Given the description of an element on the screen output the (x, y) to click on. 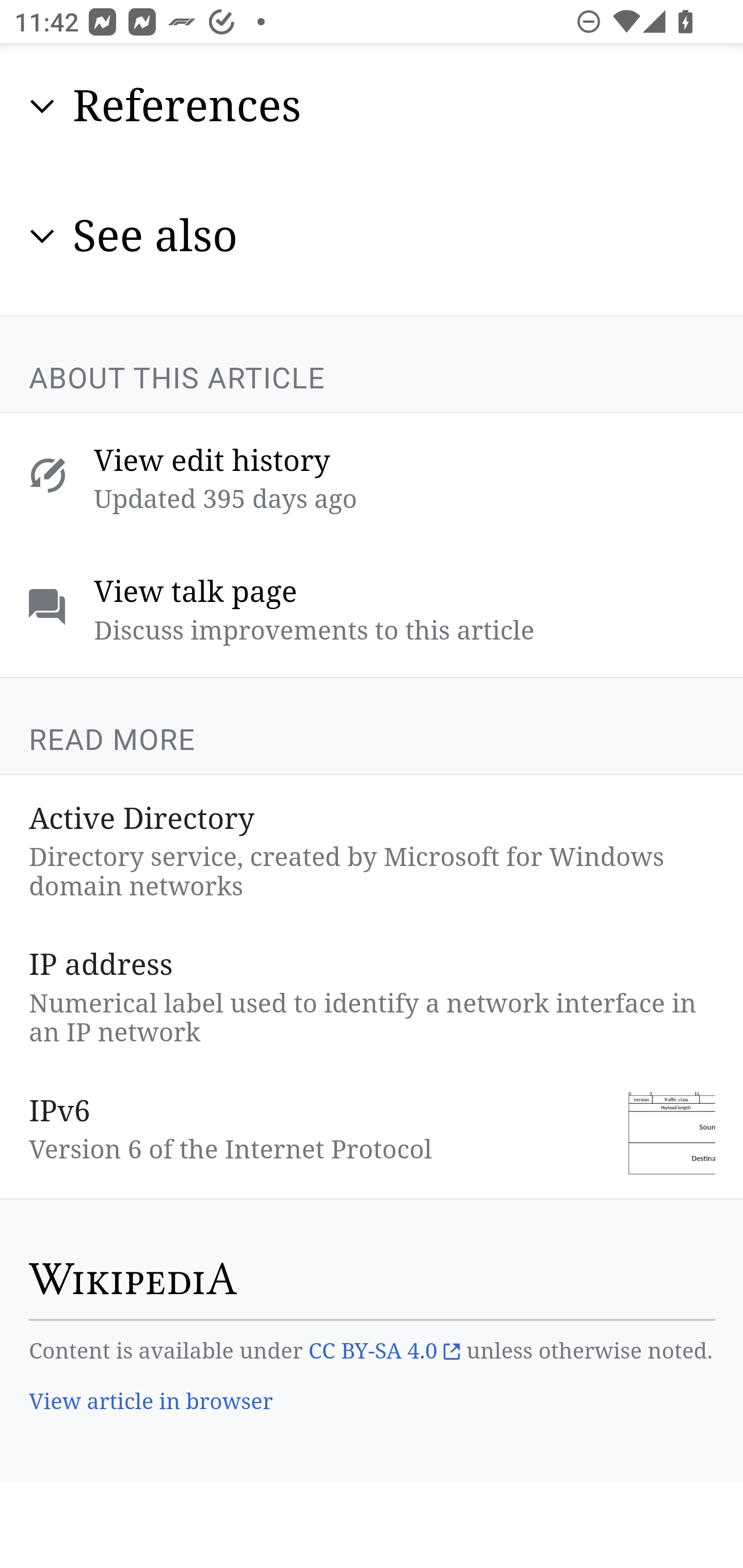
Expand section References (372, 107)
Expand section (41, 108)
Expand section See also (372, 236)
Expand section (41, 237)
CC BY-SA 4.0 (384, 1352)
View article in browser (151, 1403)
